Given the description of an element on the screen output the (x, y) to click on. 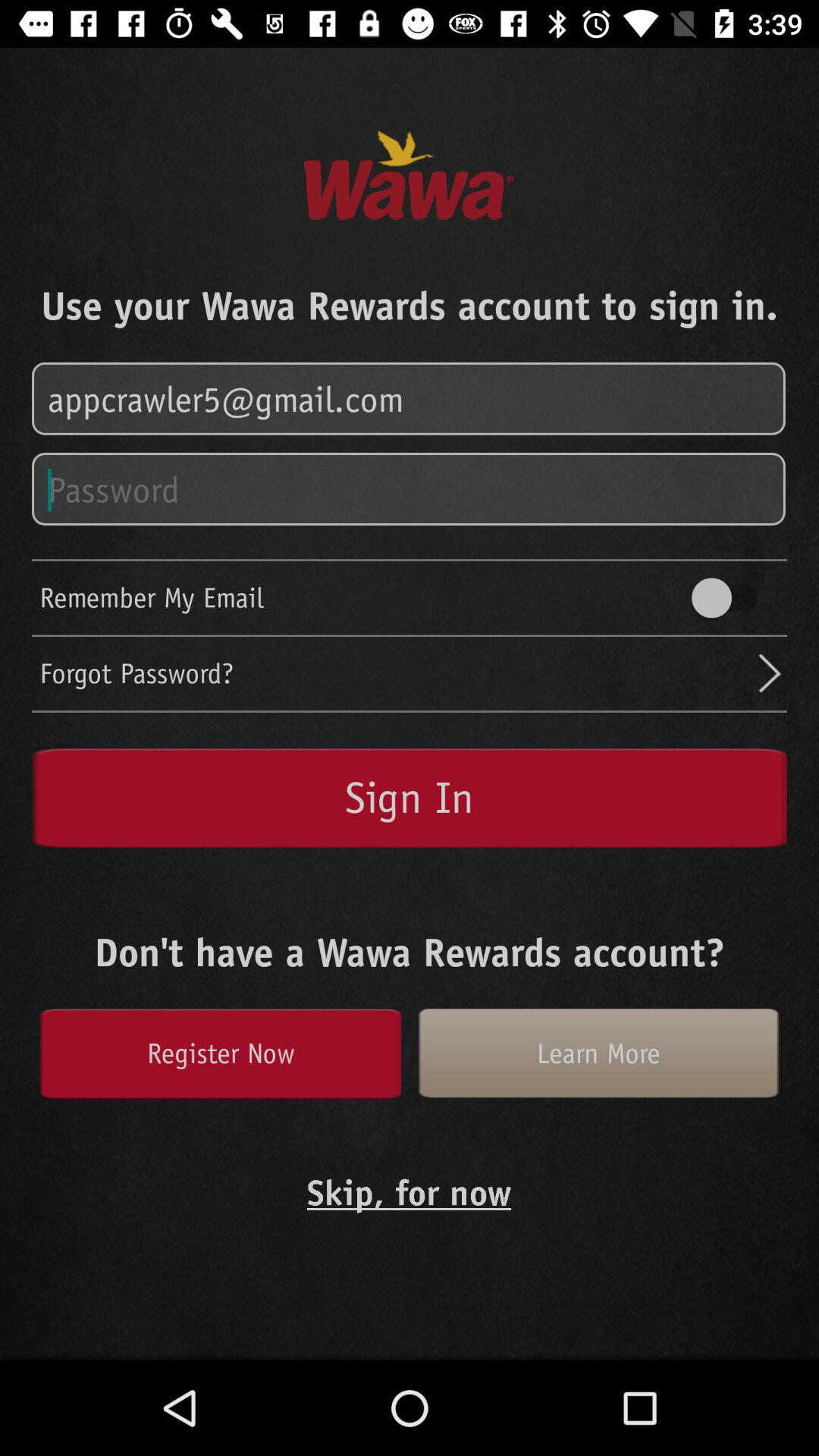
swipe until the register now icon (220, 1053)
